Given the description of an element on the screen output the (x, y) to click on. 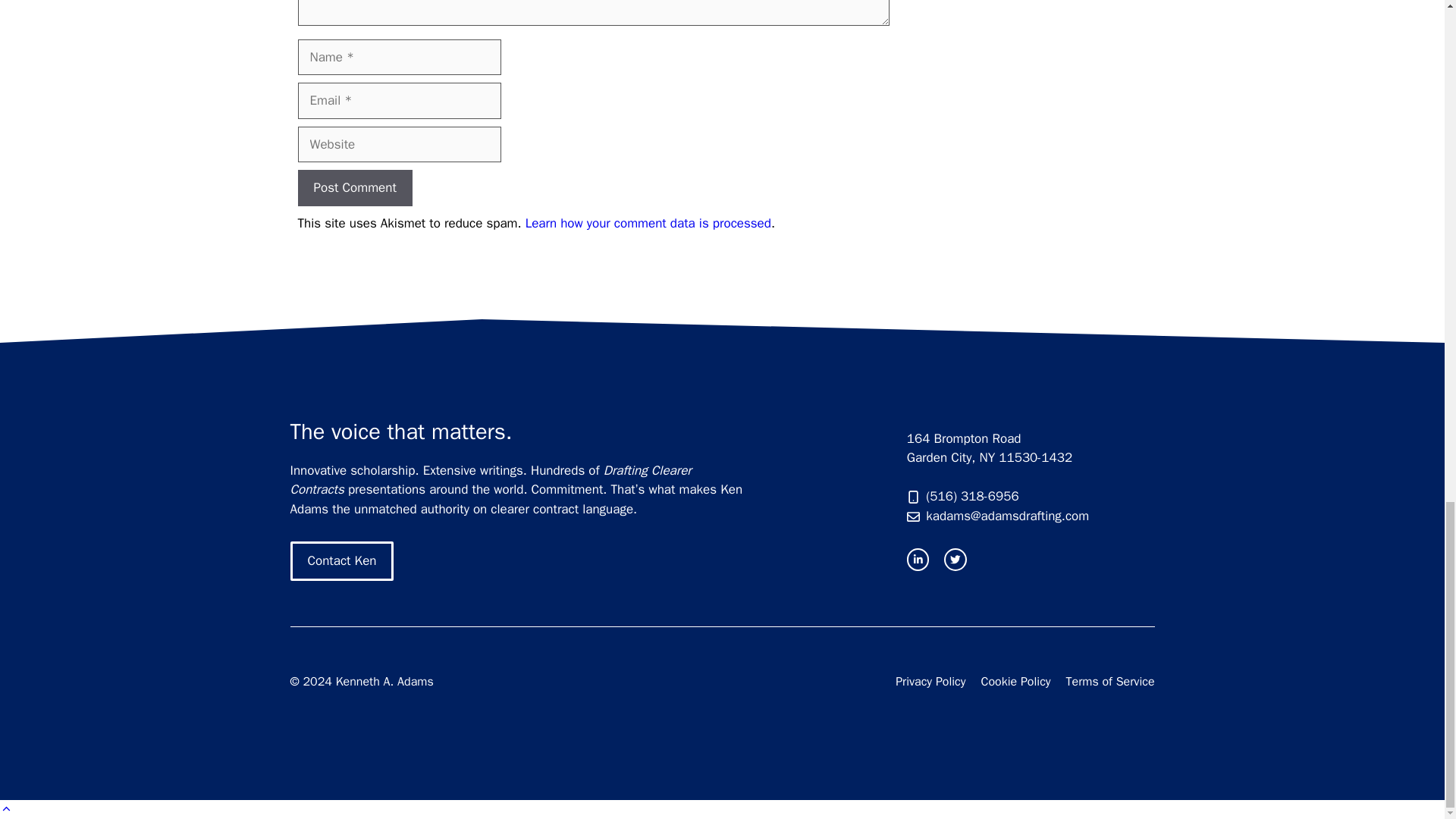
Privacy Policy (930, 681)
Post Comment (354, 187)
Post Comment (354, 187)
Cookie Policy (1016, 681)
Contact Ken (341, 560)
Learn how your comment data is processed (648, 222)
Terms of Service (1109, 681)
